Given the description of an element on the screen output the (x, y) to click on. 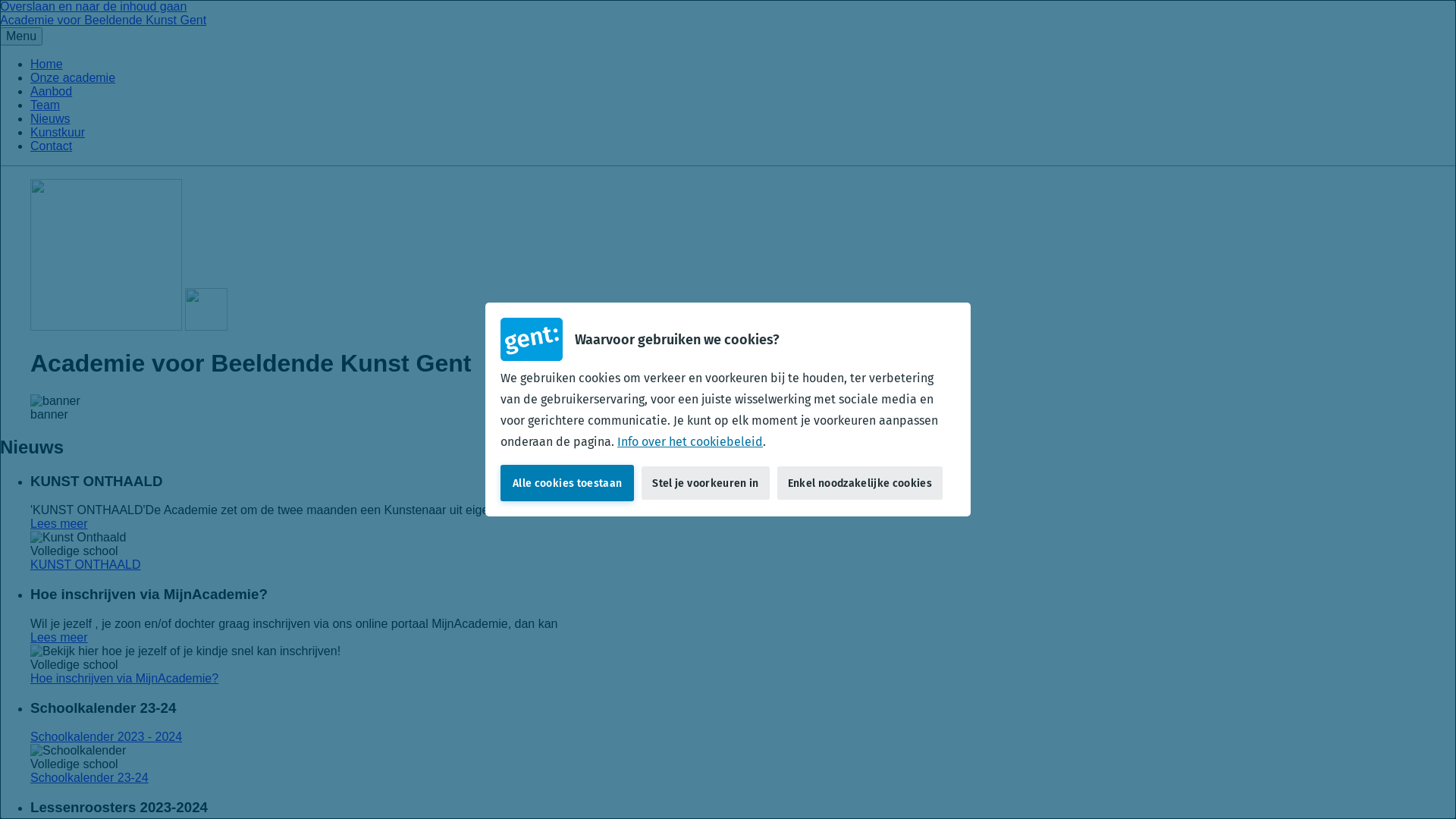
Schoolkalender 23-24 Element type: text (89, 777)
Alle cookies toestaan Element type: text (566, 482)
Onze academie Element type: text (72, 77)
Hoe inschrijven via MijnAcademie? Element type: text (124, 677)
Info over het cookiebeleid Element type: text (689, 441)
Nieuws Element type: text (49, 118)
Schoolkalender 2023 - 2024 Element type: text (106, 736)
Menu Element type: text (21, 36)
Team Element type: text (44, 104)
KUNST ONTHAALD Element type: text (85, 564)
Academie voor Beeldende Kunst Gent Element type: text (103, 19)
Stel je voorkeuren in Element type: text (704, 482)
Lees meer Element type: text (58, 636)
Home Element type: text (46, 63)
Enkel noodzakelijke cookies Element type: text (859, 482)
Contact Element type: text (51, 145)
Lees meer Element type: text (58, 523)
Aanbod Element type: text (51, 90)
Overslaan en naar de inhoud gaan Element type: text (93, 6)
Kunstkuur Element type: text (57, 131)
